Given the description of an element on the screen output the (x, y) to click on. 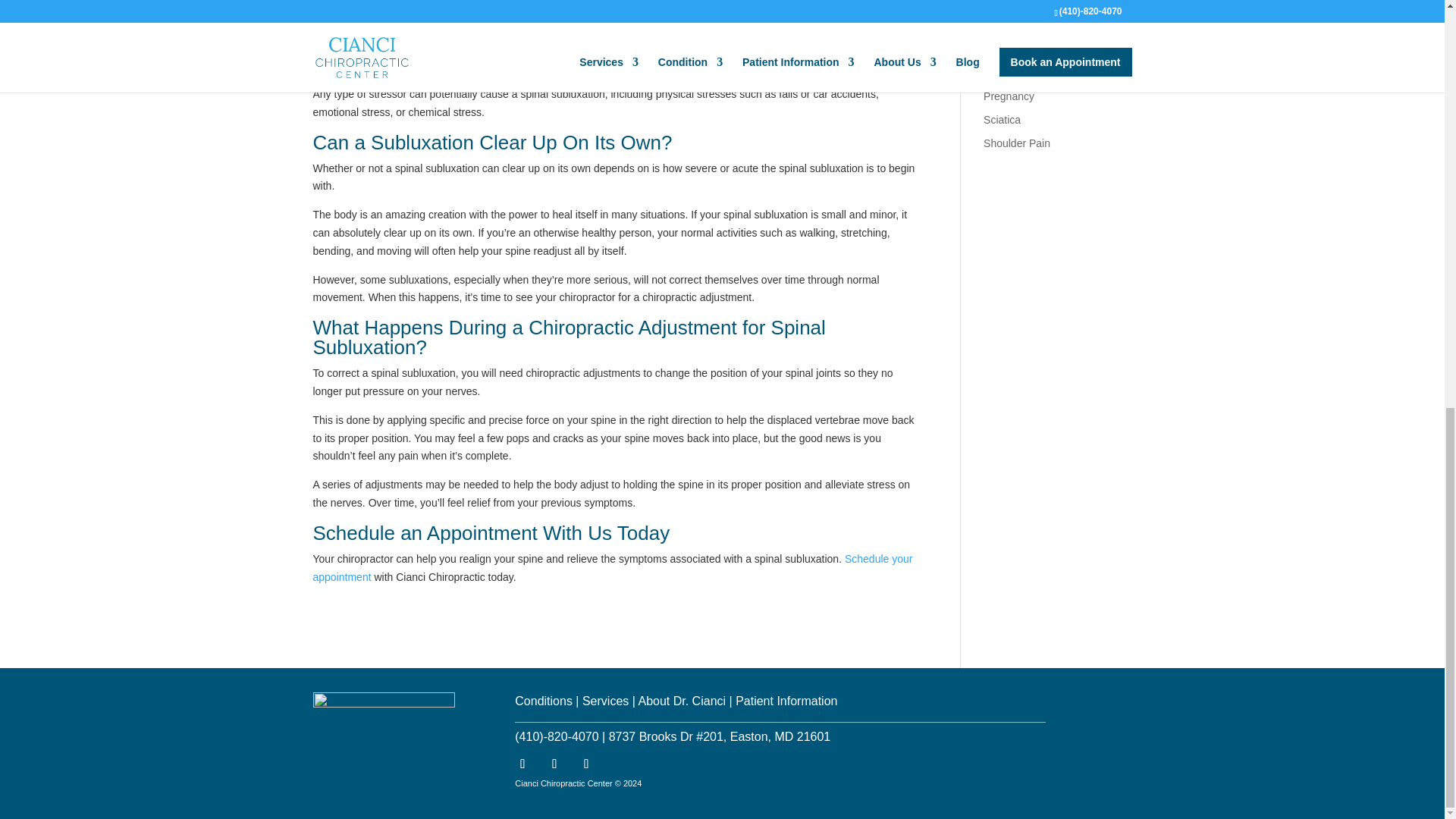
Follow on LinkedIn (554, 764)
Follow on X (585, 764)
Follow on Facebook (522, 764)
logo-footer (383, 723)
Schedule your appointment (612, 567)
